Given the description of an element on the screen output the (x, y) to click on. 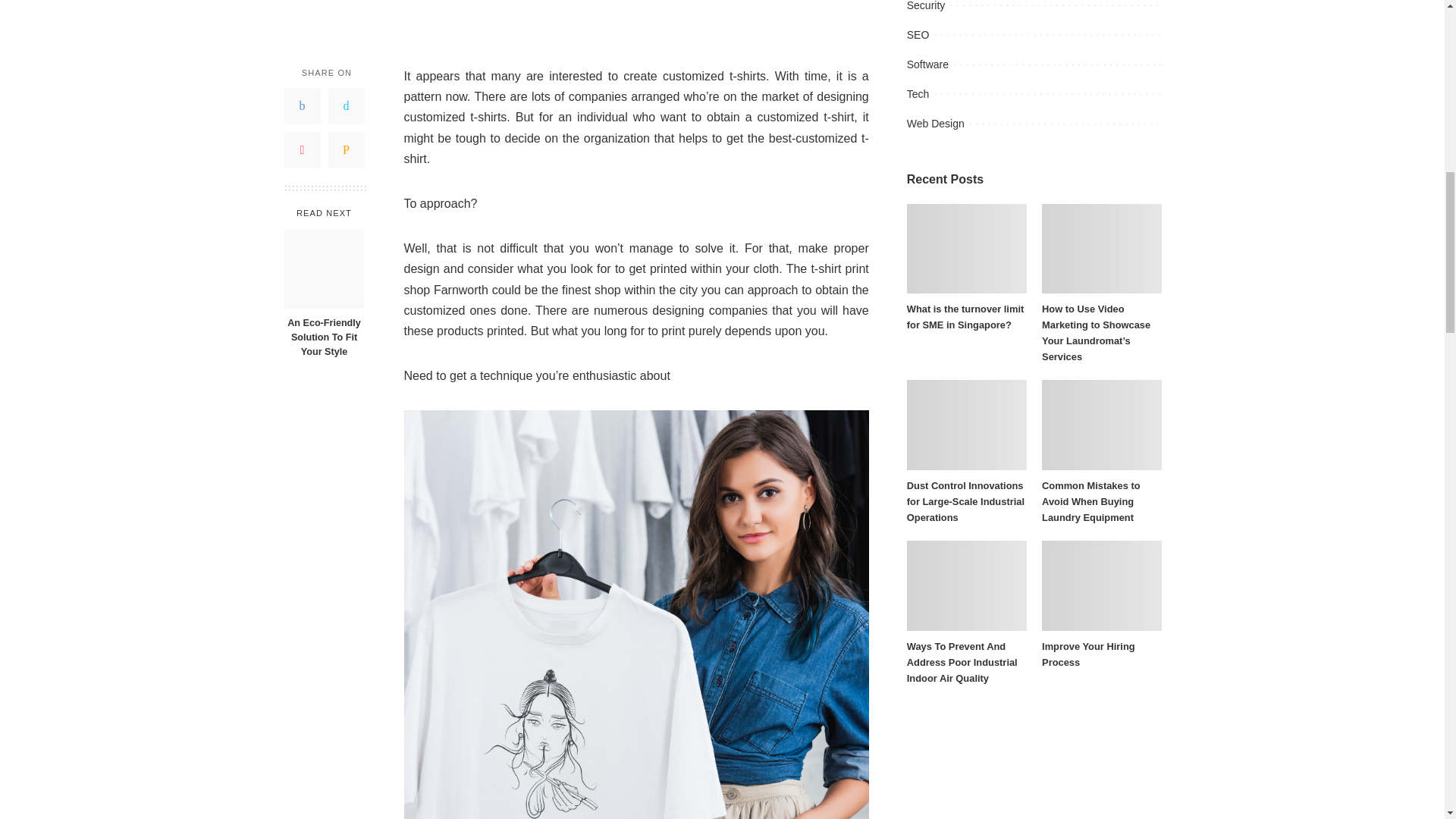
Pinterest (301, 149)
Email (345, 149)
An Eco-Friendly Solution To Fit Your Style (323, 268)
An Eco-Friendly Solution To Fit Your Style (323, 337)
What is the turnover limit for SME in Singapore? (966, 248)
Twitter (345, 105)
Facebook (301, 105)
What is the turnover limit for SME in Singapore? (966, 316)
An Eco-Friendly Solution To Fit Your Style (323, 337)
